Given the description of an element on the screen output the (x, y) to click on. 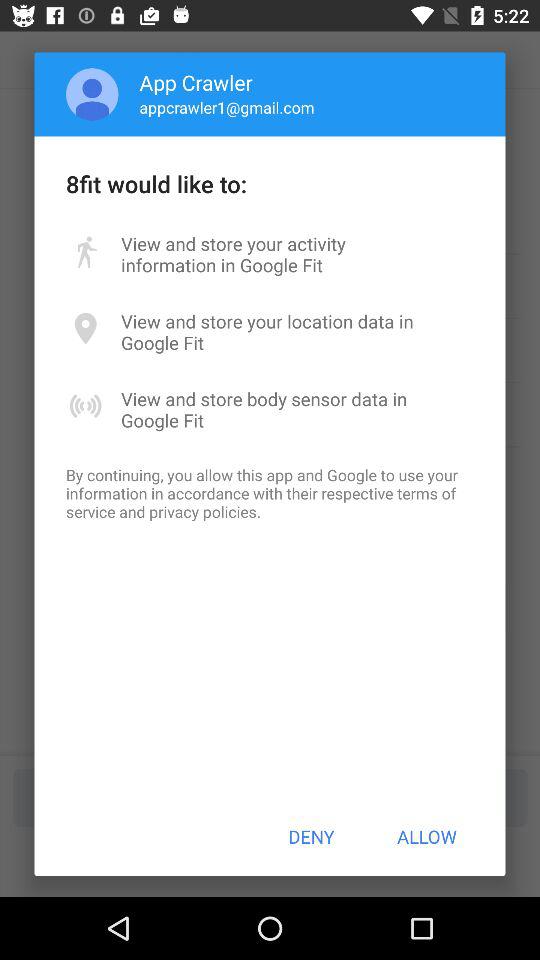
turn on the app below app crawler item (226, 107)
